Given the description of an element on the screen output the (x, y) to click on. 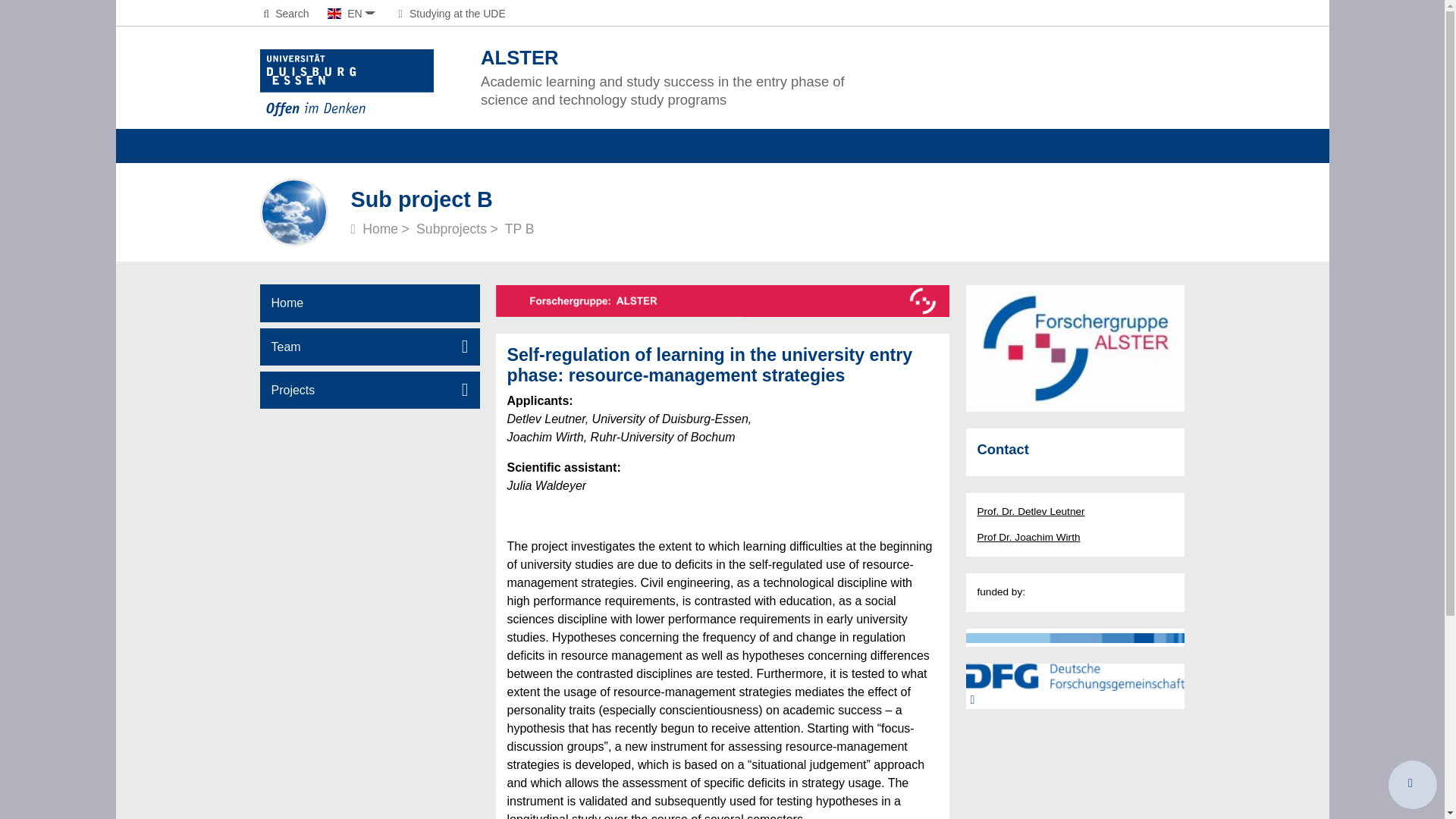
Prof. Dr. Detlev Leutner (1030, 511)
TP B (519, 228)
TP B (519, 228)
Subprojects (451, 228)
Projects (369, 389)
Studying at the UDE (449, 13)
Team (369, 346)
Home (373, 228)
Subprojects (451, 228)
Homepage of Research Group ALSTER (369, 302)
Home (373, 228)
EN (351, 13)
Search (283, 13)
Prof Dr. Joachim Wirth (1028, 536)
